Given the description of an element on the screen output the (x, y) to click on. 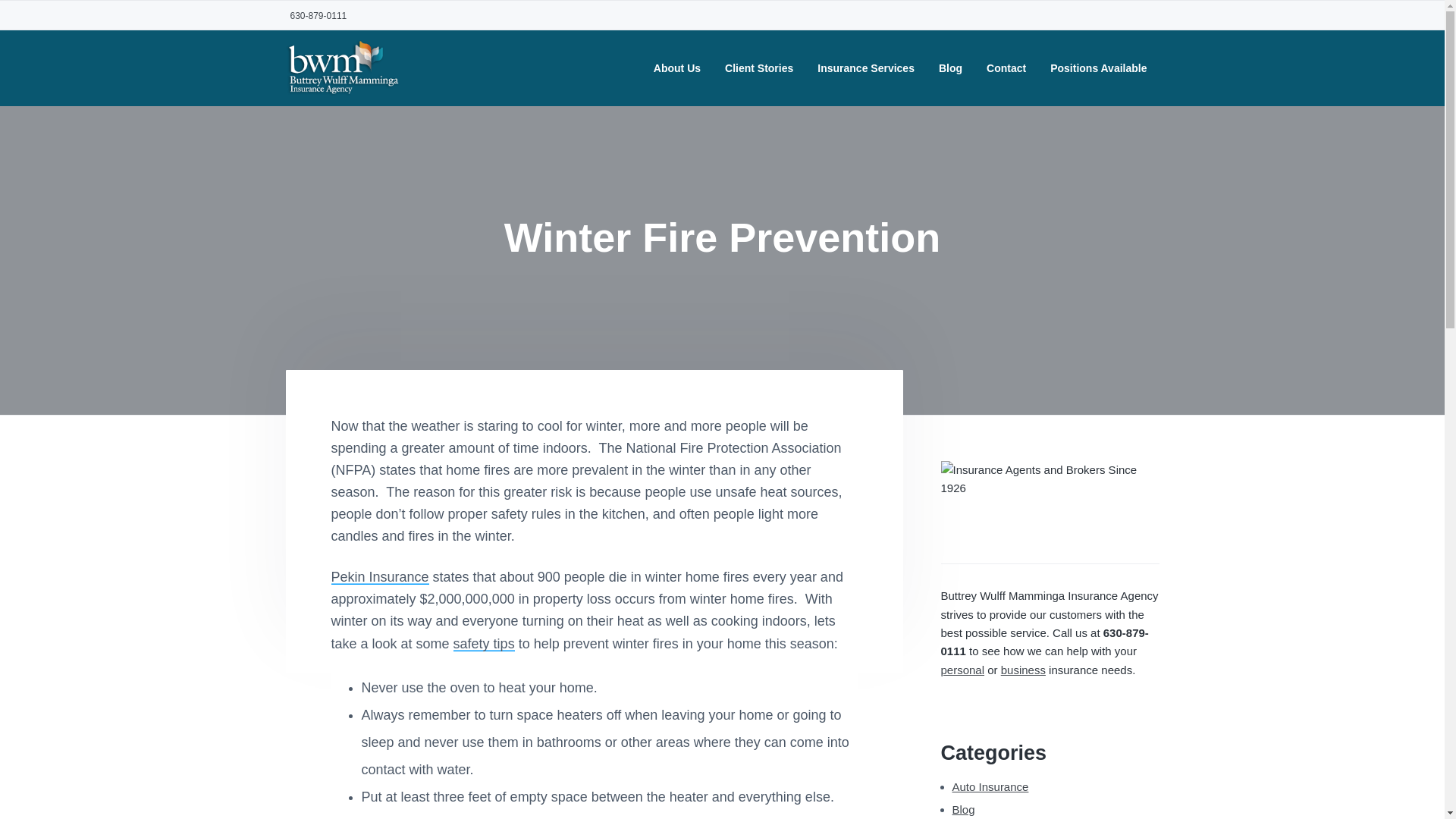
safety tips (483, 643)
Auto Insurance (990, 786)
business (1023, 669)
Positions Available (1098, 67)
Blog (963, 809)
personal (962, 669)
About Us (676, 67)
Pekin Insurance (379, 576)
Client Stories (759, 67)
